Given the description of an element on the screen output the (x, y) to click on. 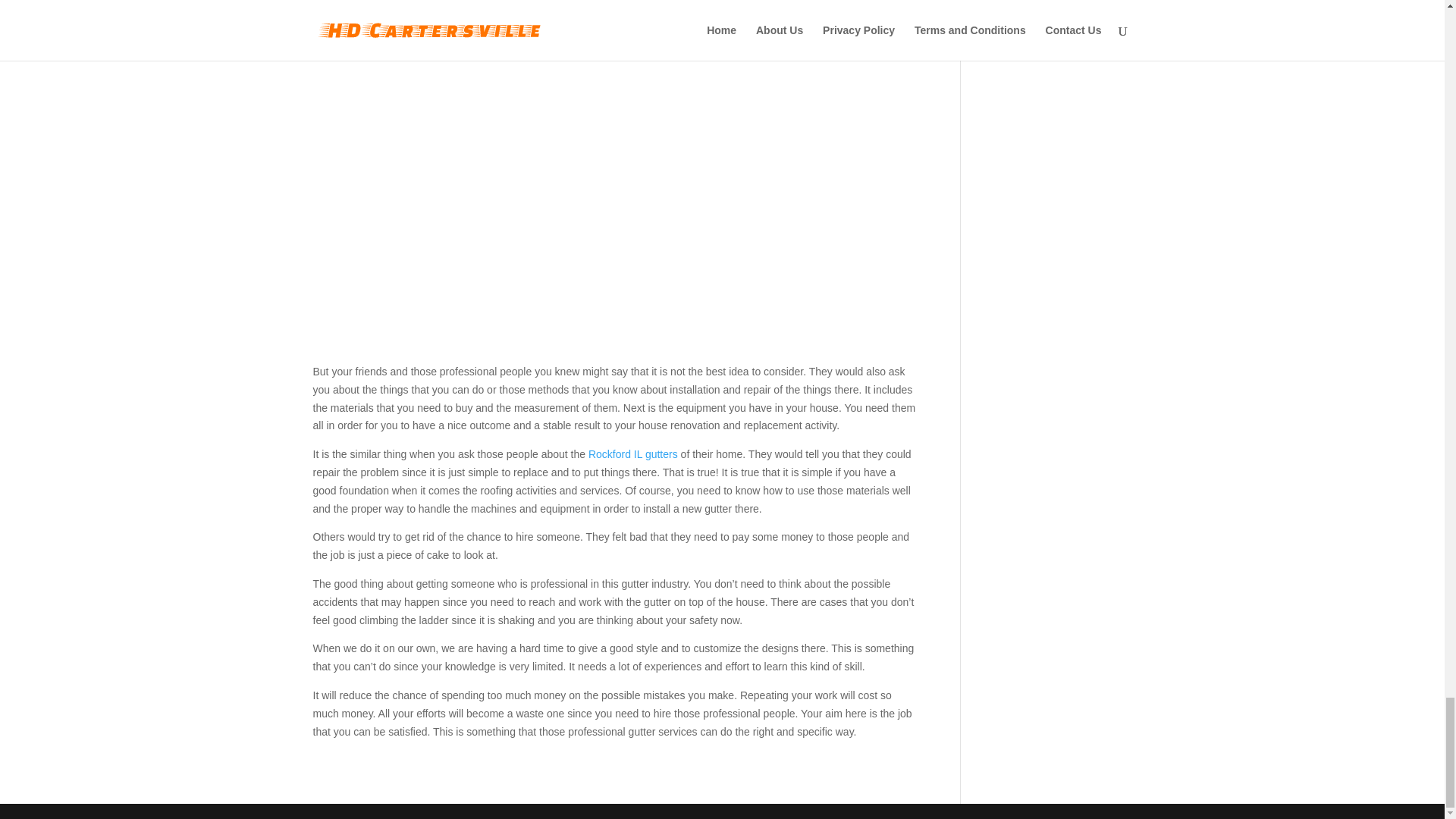
Rockford IL gutters (633, 453)
